Given the description of an element on the screen output the (x, y) to click on. 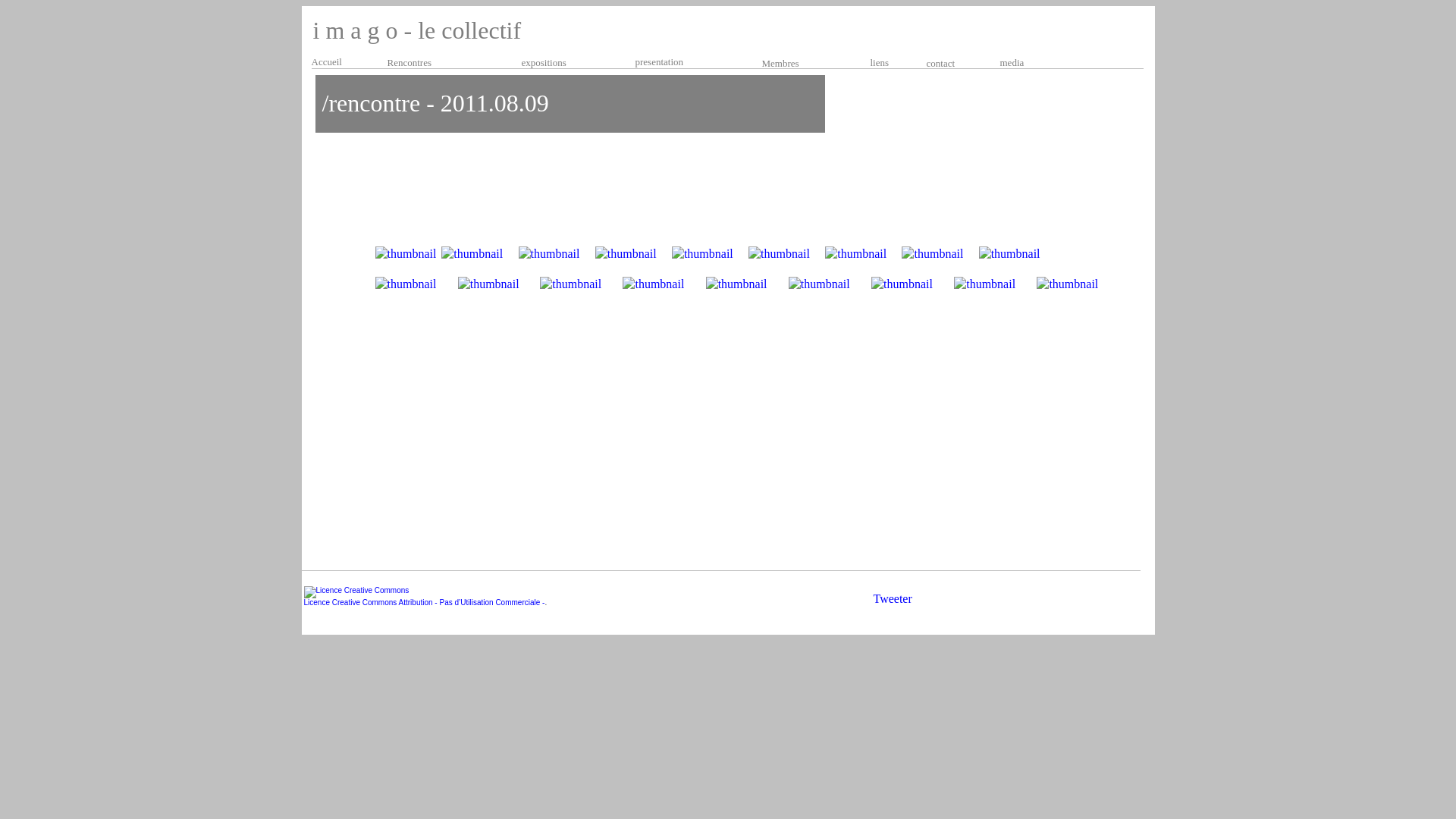
presentation Element type: text (659, 60)
Membres Element type: text (799, 62)
expositions Element type: text (543, 61)
Rencontres Element type: text (440, 61)
Rencontres Element type: text (440, 62)
expositions Element type: text (543, 62)
Accueil Element type: text (325, 60)
home  Element type: text (1108, 601)
Tweeter Element type: text (892, 598)
liens Element type: text (879, 61)
media Element type: text (1011, 61)
home  Element type: text (1103, 599)
contact Element type: text (940, 62)
